Given the description of an element on the screen output the (x, y) to click on. 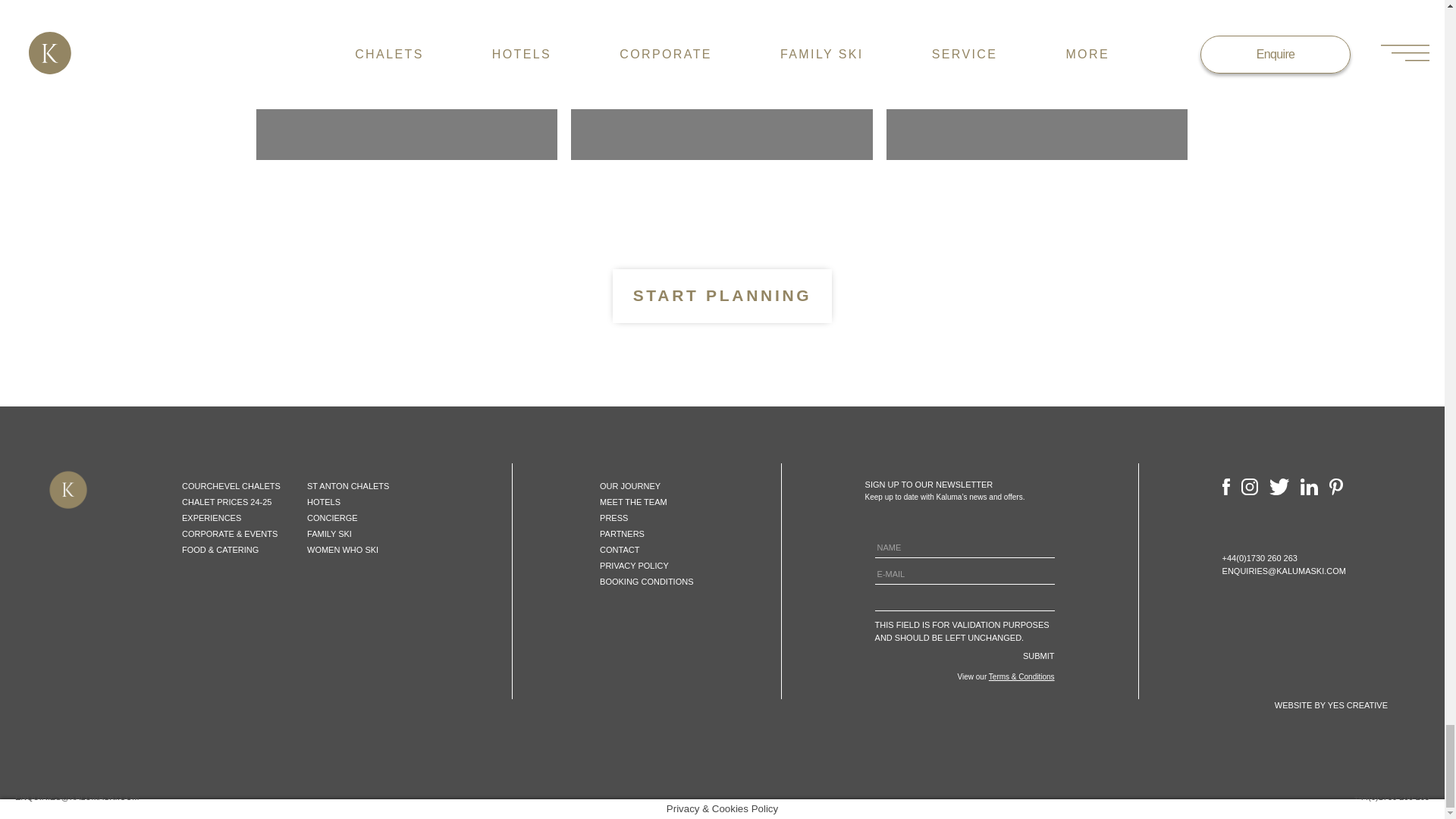
Submit (1037, 653)
